Given the description of an element on the screen output the (x, y) to click on. 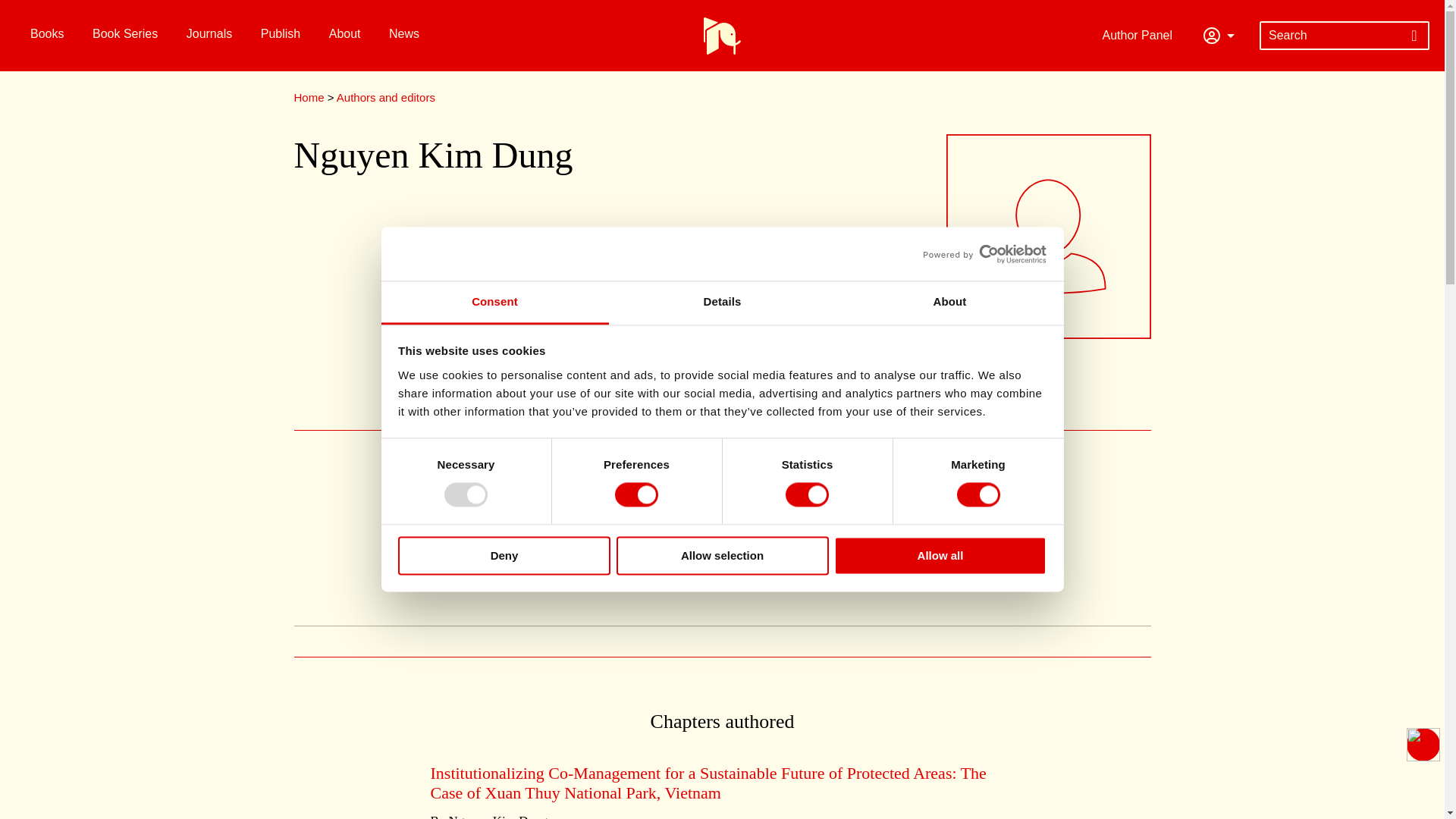
Consent (494, 302)
Details (721, 302)
Accessibility Menu (1422, 744)
About (948, 302)
